Given the description of an element on the screen output the (x, y) to click on. 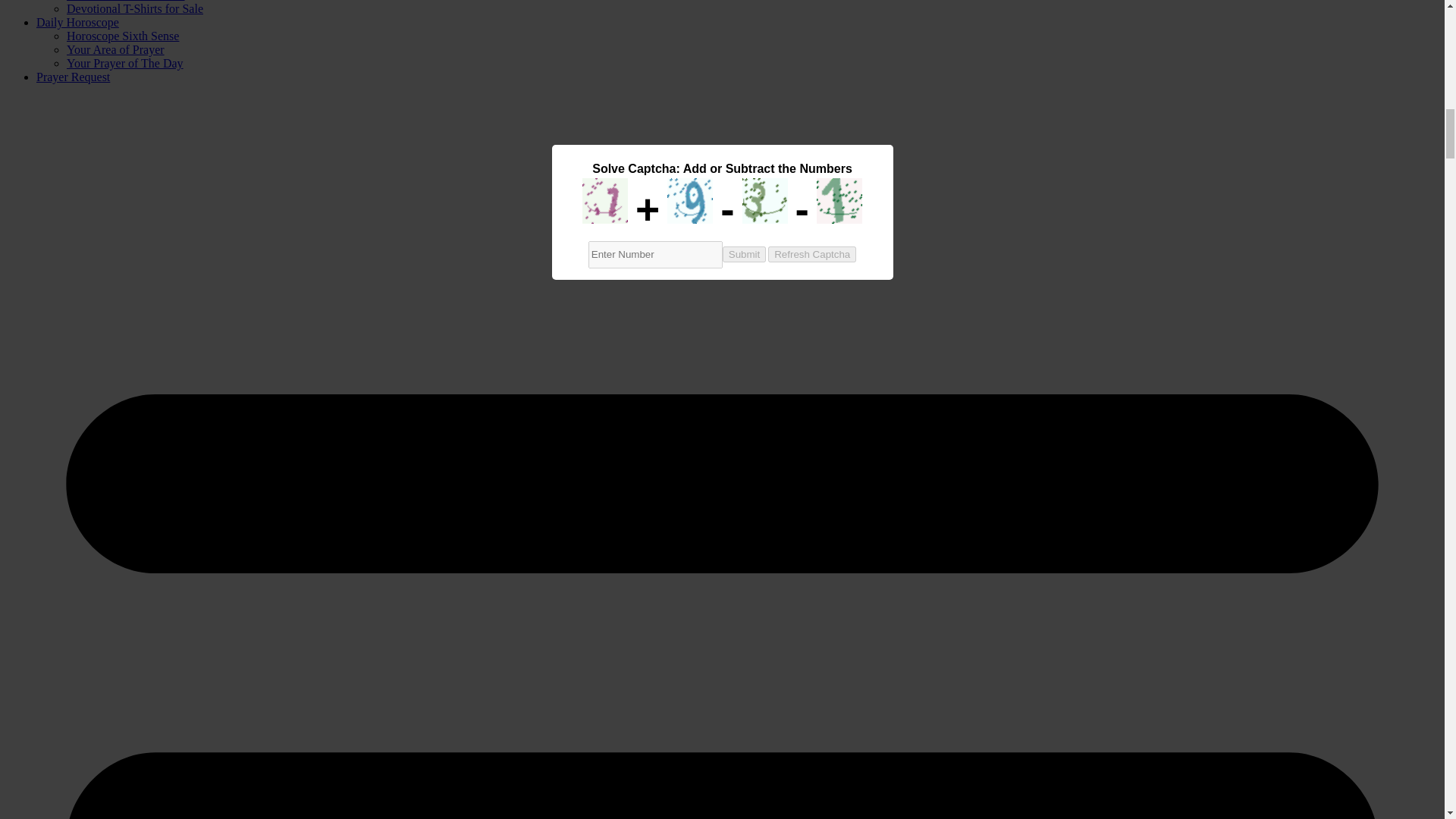
Fortune Cookie Essence (125, 0)
Prayer Request (73, 76)
Devotional T-Shirts for Sale (134, 8)
Horoscope Sixth Sense (122, 35)
Your Area of Prayer (115, 49)
Daily Horoscope (77, 21)
Your Prayer of The Day (124, 62)
